Given the description of an element on the screen output the (x, y) to click on. 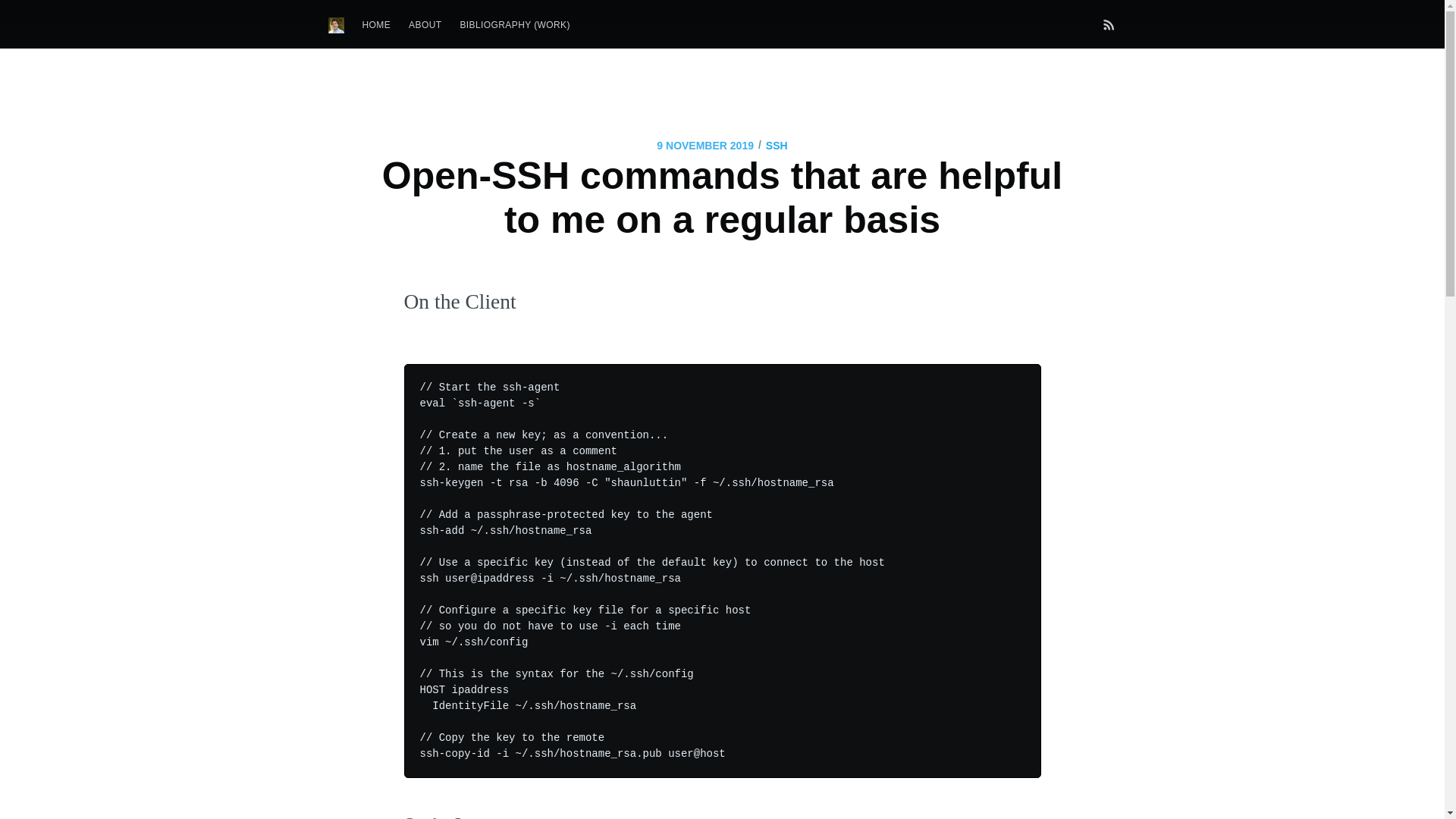
BIBLIOGRAPHY (WORK) Element type: text (514, 25)
RSS Element type: hover (1109, 24)
HOME Element type: text (376, 25)
ABOUT Element type: text (424, 25)
SSH Element type: text (776, 145)
